Given the description of an element on the screen output the (x, y) to click on. 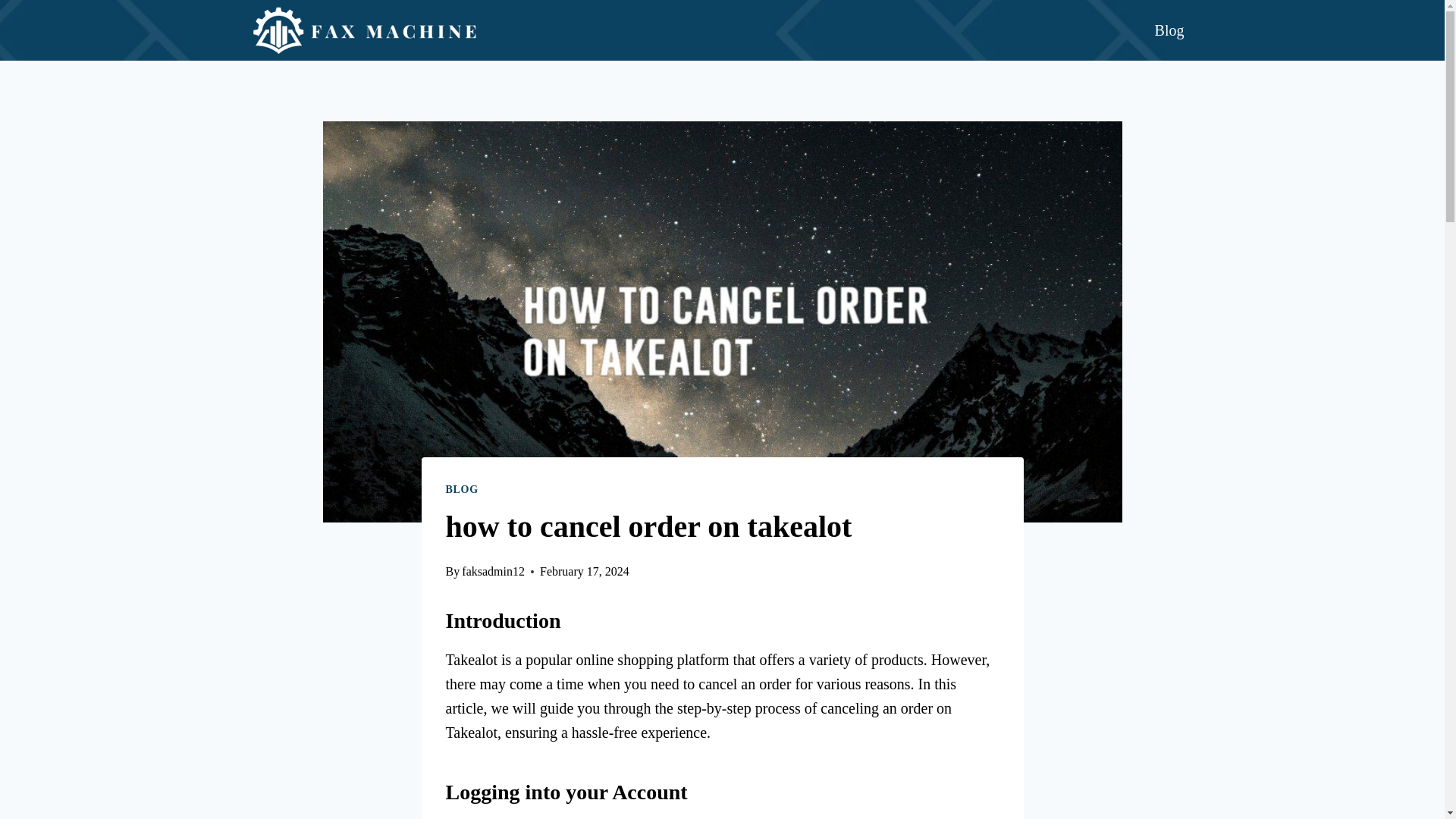
Blog (1169, 30)
faksadmin12 (492, 571)
BLOG (462, 489)
